Given the description of an element on the screen output the (x, y) to click on. 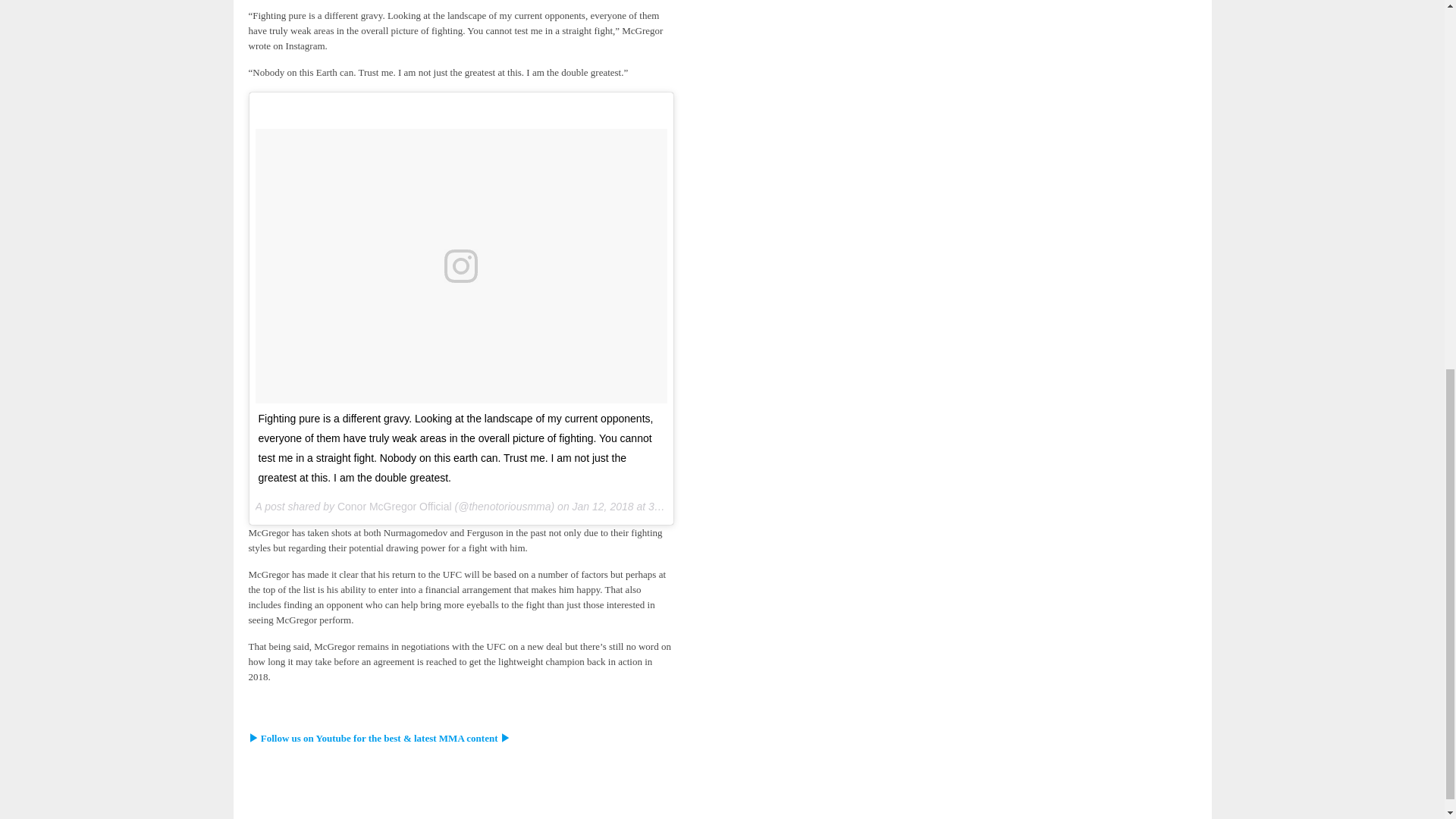
Conor McGregor Official (394, 506)
